Given the description of an element on the screen output the (x, y) to click on. 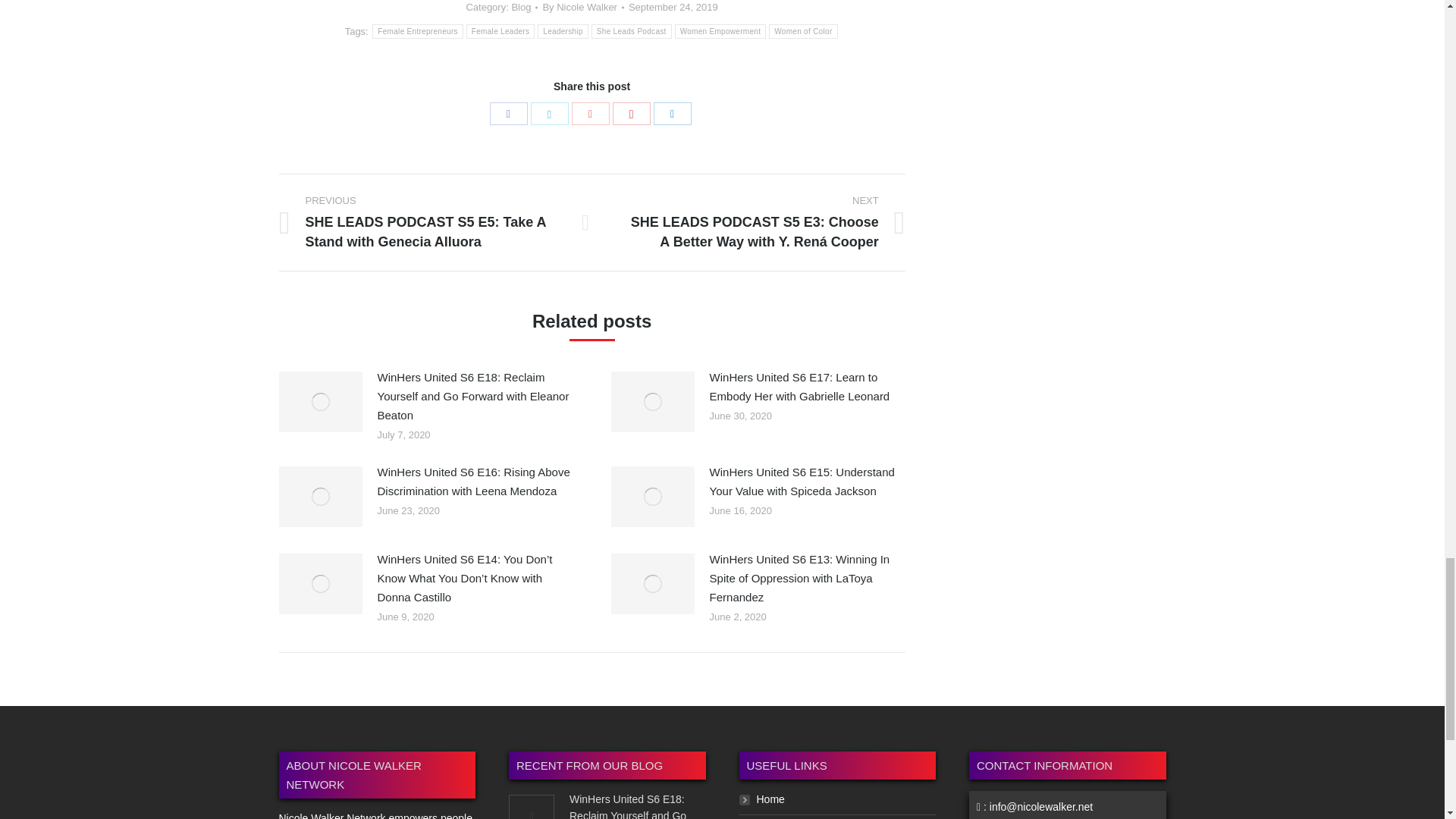
By Nicole Walker (582, 7)
Women Empowerment (721, 31)
Leadership (562, 31)
Female Leaders (499, 31)
September 24, 2019 (672, 7)
LinkedIn (672, 113)
Women of Color (802, 31)
She Leads Podcast (631, 31)
7:00 AM (672, 7)
Pinterest (631, 113)
